Given the description of an element on the screen output the (x, y) to click on. 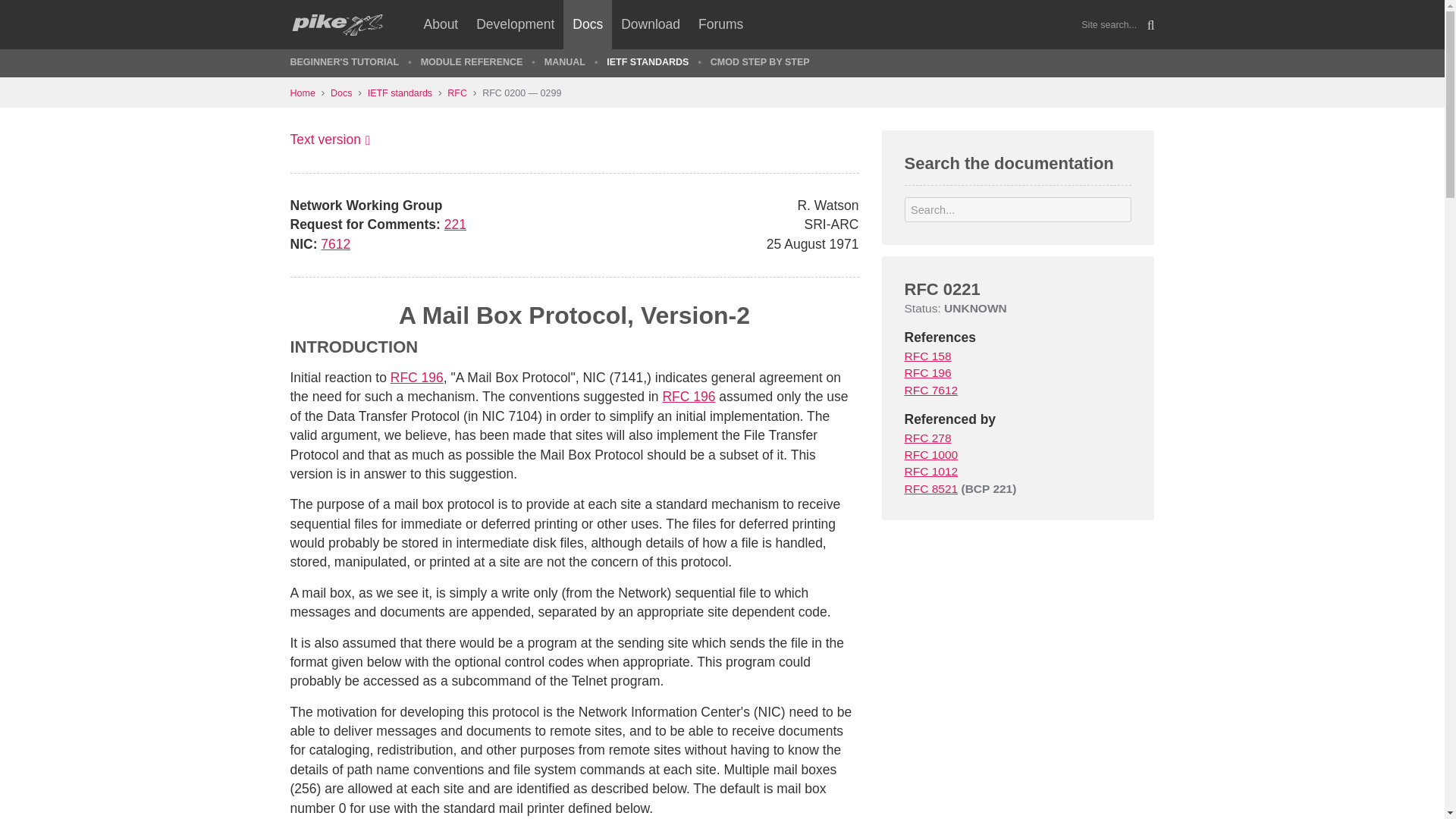
About (440, 24)
RFC 196 (688, 396)
RFC 1000 (931, 454)
7612 (335, 243)
RFC (463, 92)
Development (515, 24)
Docs (587, 24)
Bibliography of Request For Comments 1 through 999 (931, 471)
Docs (349, 92)
RFC 196 (417, 377)
